Given the description of an element on the screen output the (x, y) to click on. 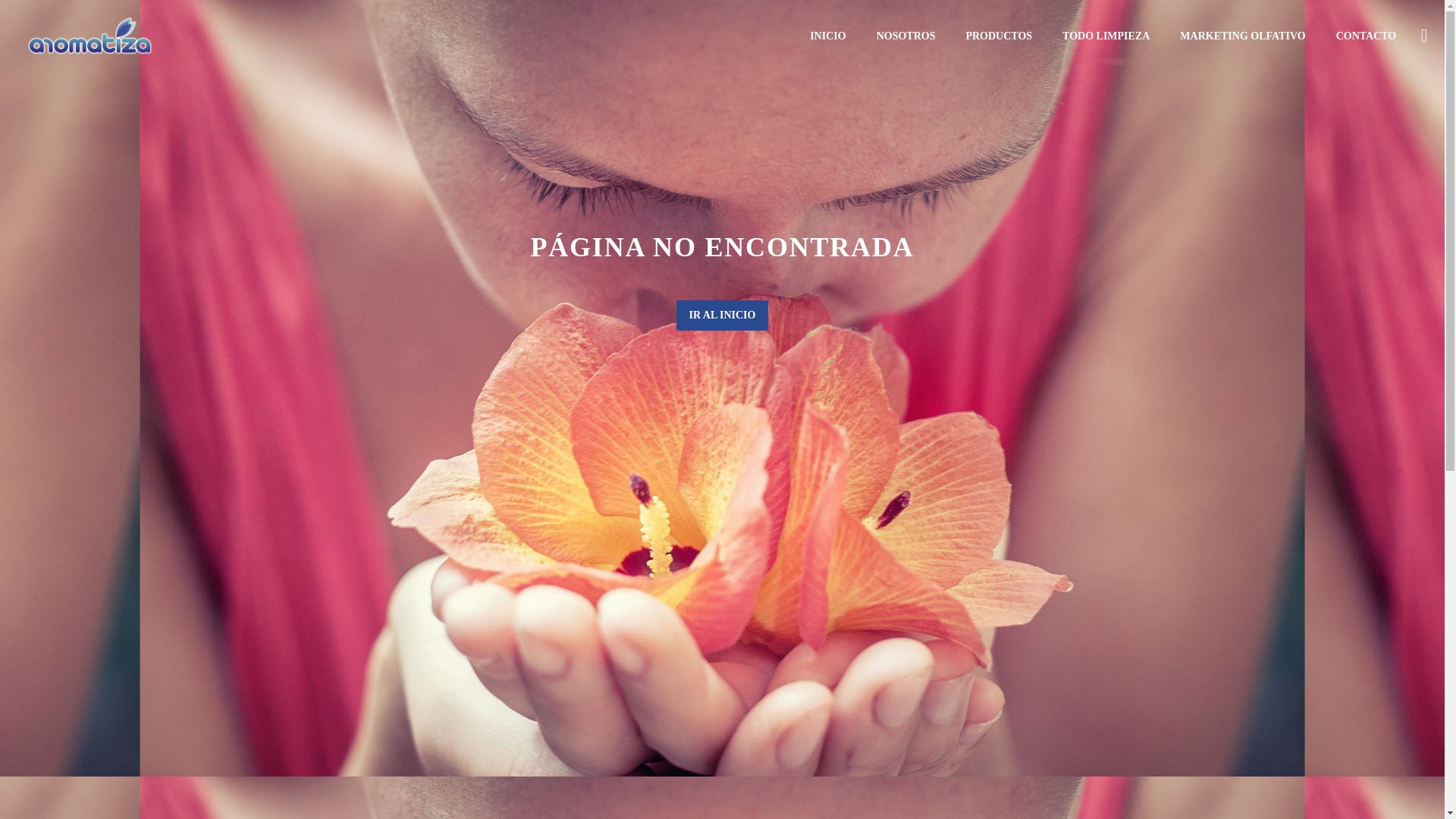
IR AL INICIO (722, 315)
PRODUCTOS (998, 36)
TODO LIMPIEZA (1105, 36)
CONTACTO (1366, 36)
NOSOTROS (905, 36)
MARKETING OLFATIVO (1242, 36)
INICIO (827, 36)
